Given the description of an element on the screen output the (x, y) to click on. 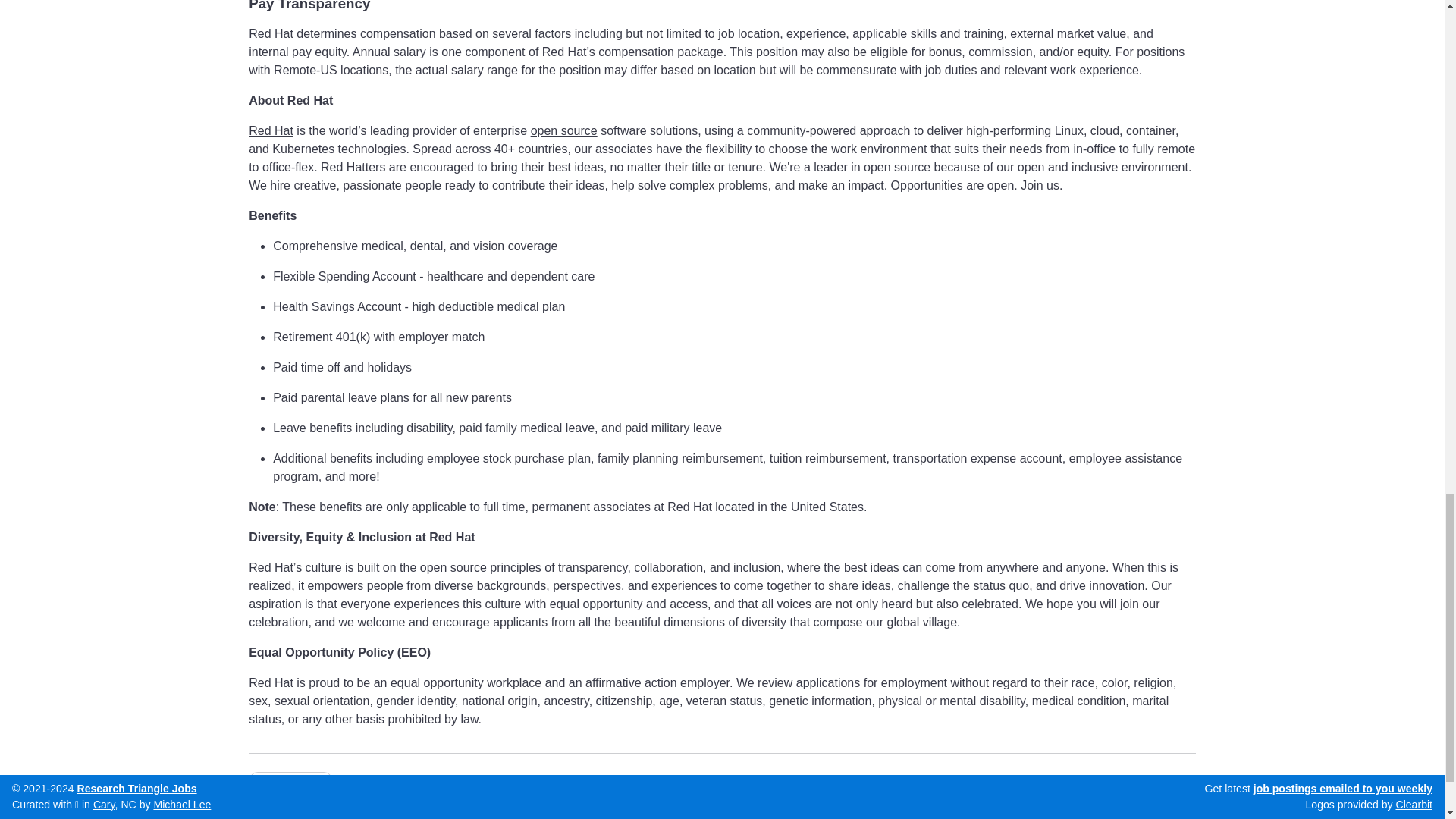
open source (563, 130)
Red Hat (271, 130)
Executive Assistant (289, 781)
